Given the description of an element on the screen output the (x, y) to click on. 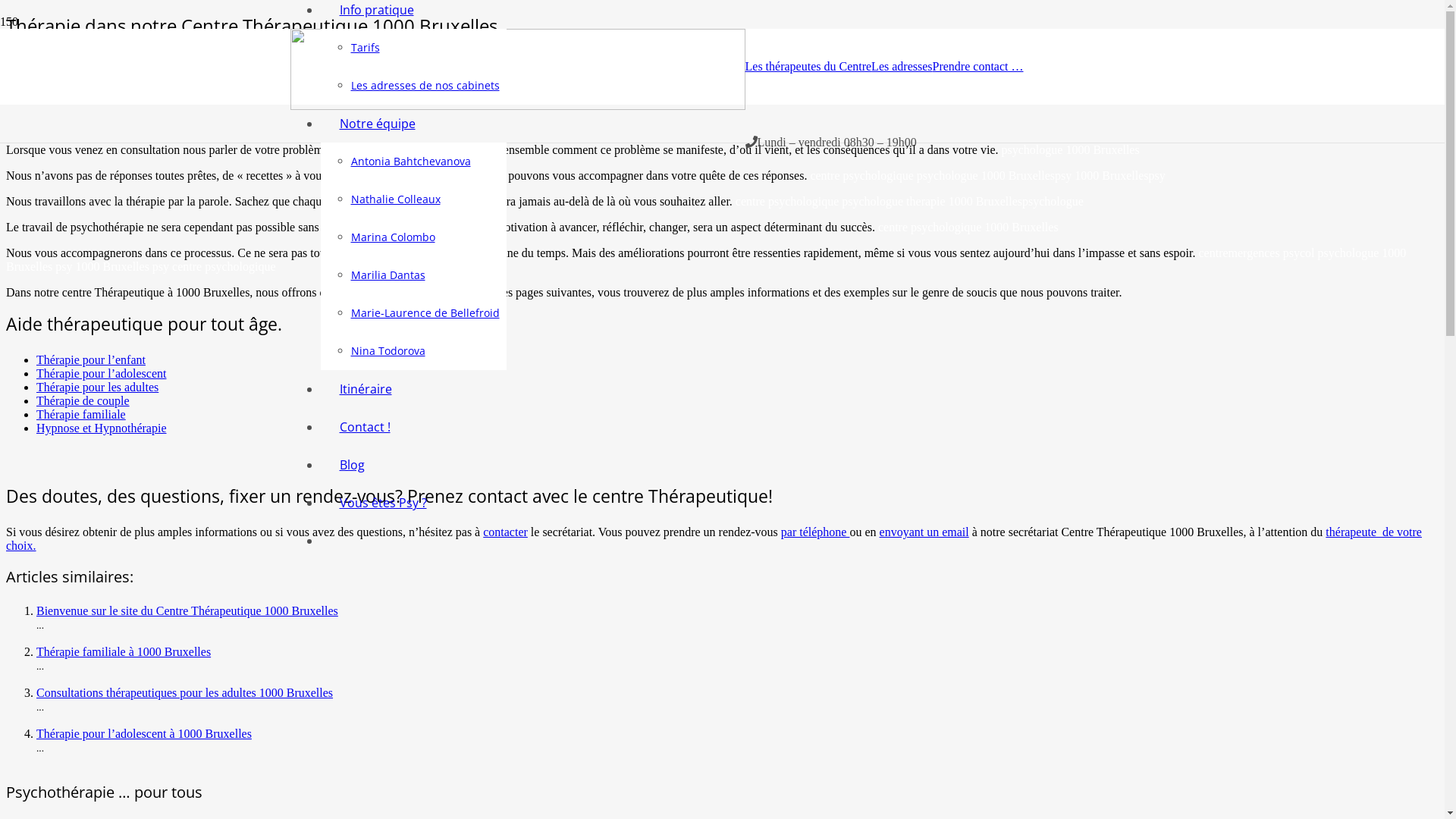
envoyant un email Element type: text (924, 531)
Nathalie Colleaux Element type: text (394, 198)
Marie-Laurence de Bellefroid Element type: text (424, 312)
Marilia Dantas Element type: text (387, 274)
Les adresses Element type: text (901, 65)
Info pratique Element type: text (376, 9)
Marina Colombo Element type: text (392, 236)
Les adresses de nos cabinets Element type: text (424, 85)
Contact ! Element type: text (364, 426)
Nina Todorova Element type: text (387, 350)
Accueil Element type: text (19, 41)
Tarifs Element type: text (364, 47)
Blog Element type: text (351, 464)
Antonia Bahtchevanova Element type: text (410, 160)
contacter Element type: text (505, 531)
